Given the description of an element on the screen output the (x, y) to click on. 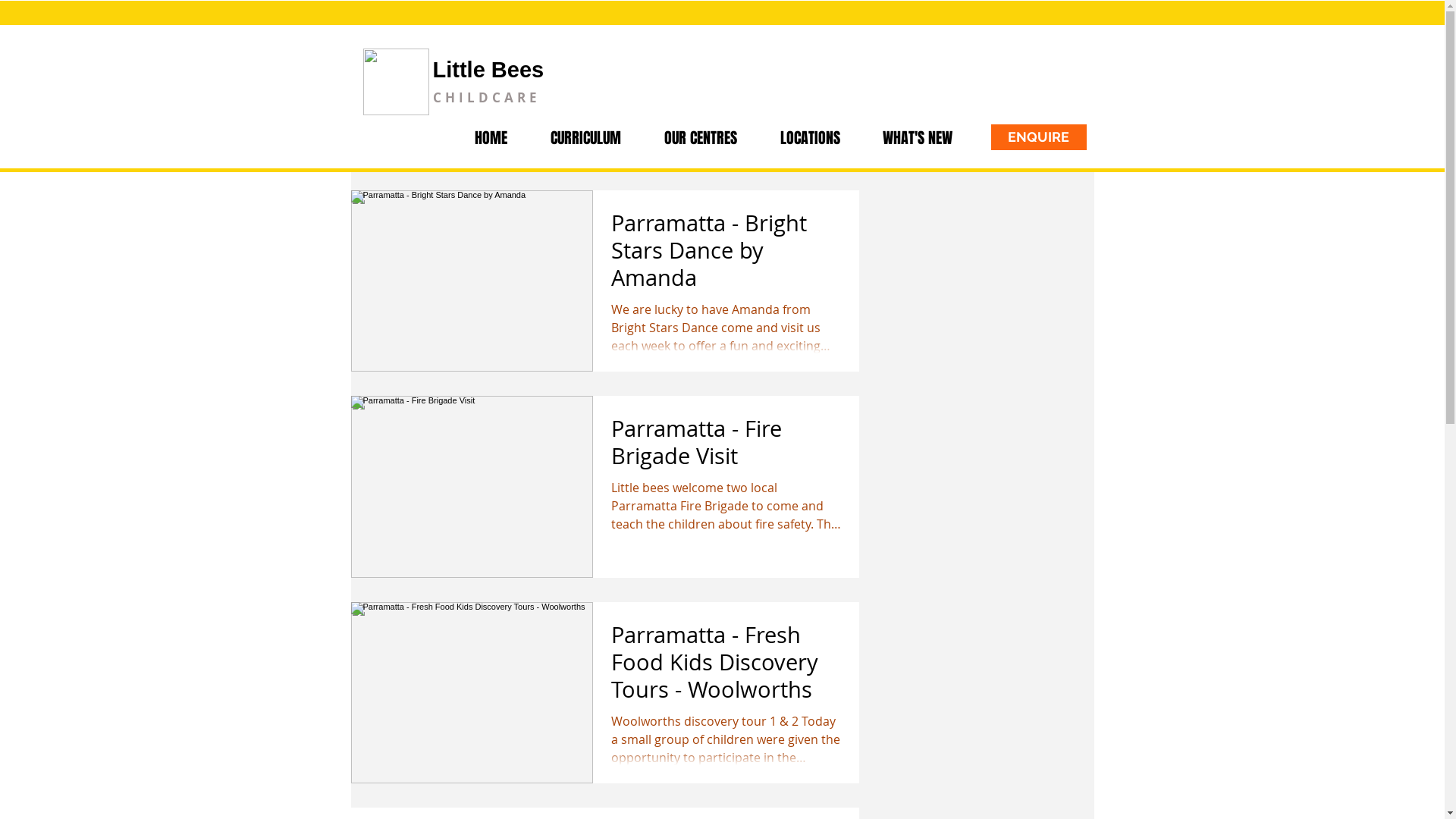
Little Bees Element type: text (487, 69)
ENQUIRE Element type: text (1037, 136)
LOCATIONS Element type: text (809, 137)
Parramatta - Fresh Food Kids Discovery Tours - Woolworths Element type: text (725, 666)
Parramatta - Fire Brigade Visit Element type: text (725, 446)
Little-Bees-logo-final-final.png Element type: hover (395, 81)
HOME Element type: text (491, 137)
WHAT'S NEW Element type: text (917, 137)
OUR CENTRES Element type: text (701, 137)
Parramatta - Bright Stars Dance by Amanda Element type: text (725, 254)
CURRICULUM Element type: text (586, 137)
